Given the description of an element on the screen output the (x, y) to click on. 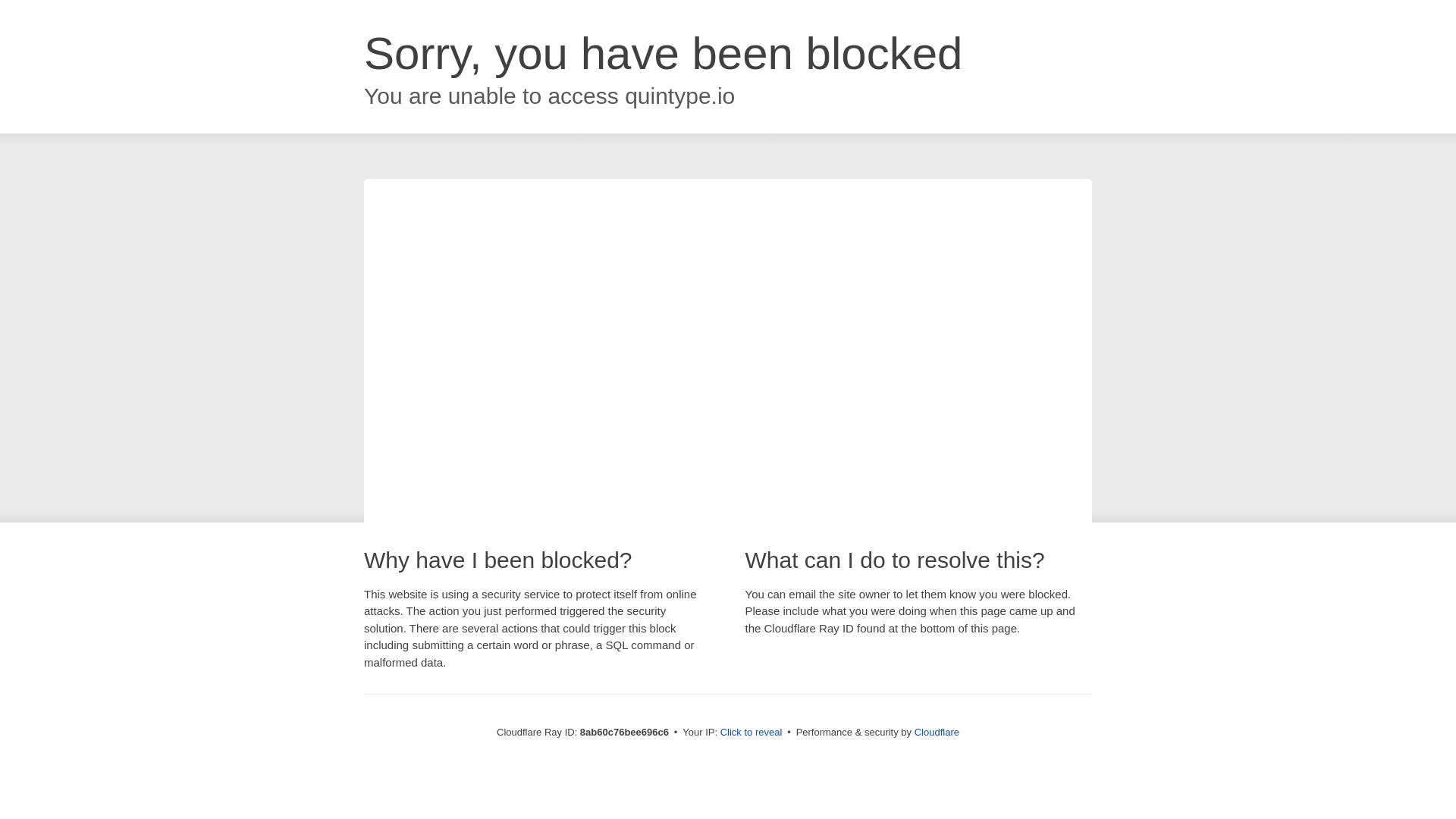
Cloudflare (936, 731)
Click to reveal (751, 732)
